Given the description of an element on the screen output the (x, y) to click on. 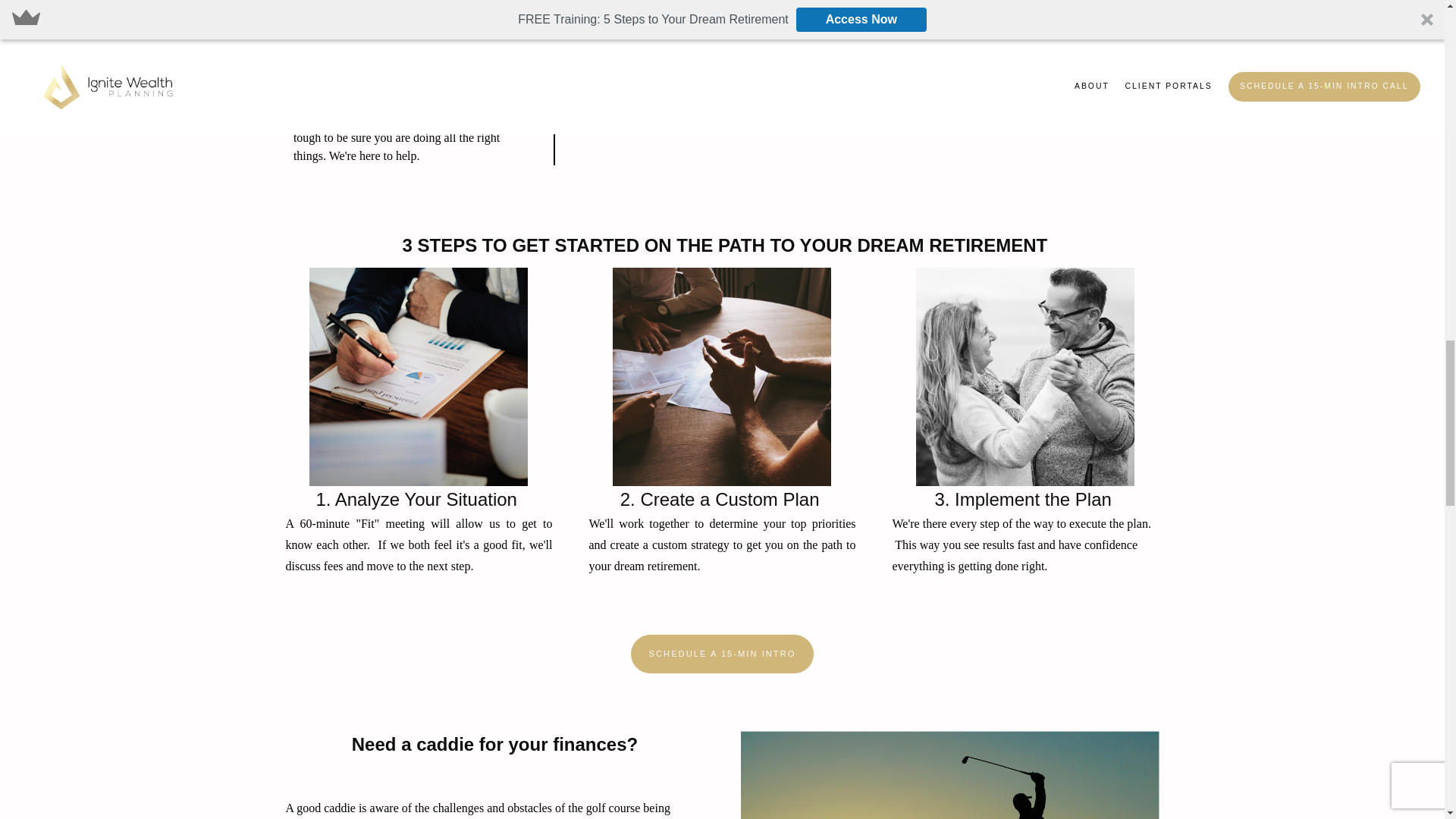
SCHEDULE A 15-MIN INTRO (721, 654)
